Given the description of an element on the screen output the (x, y) to click on. 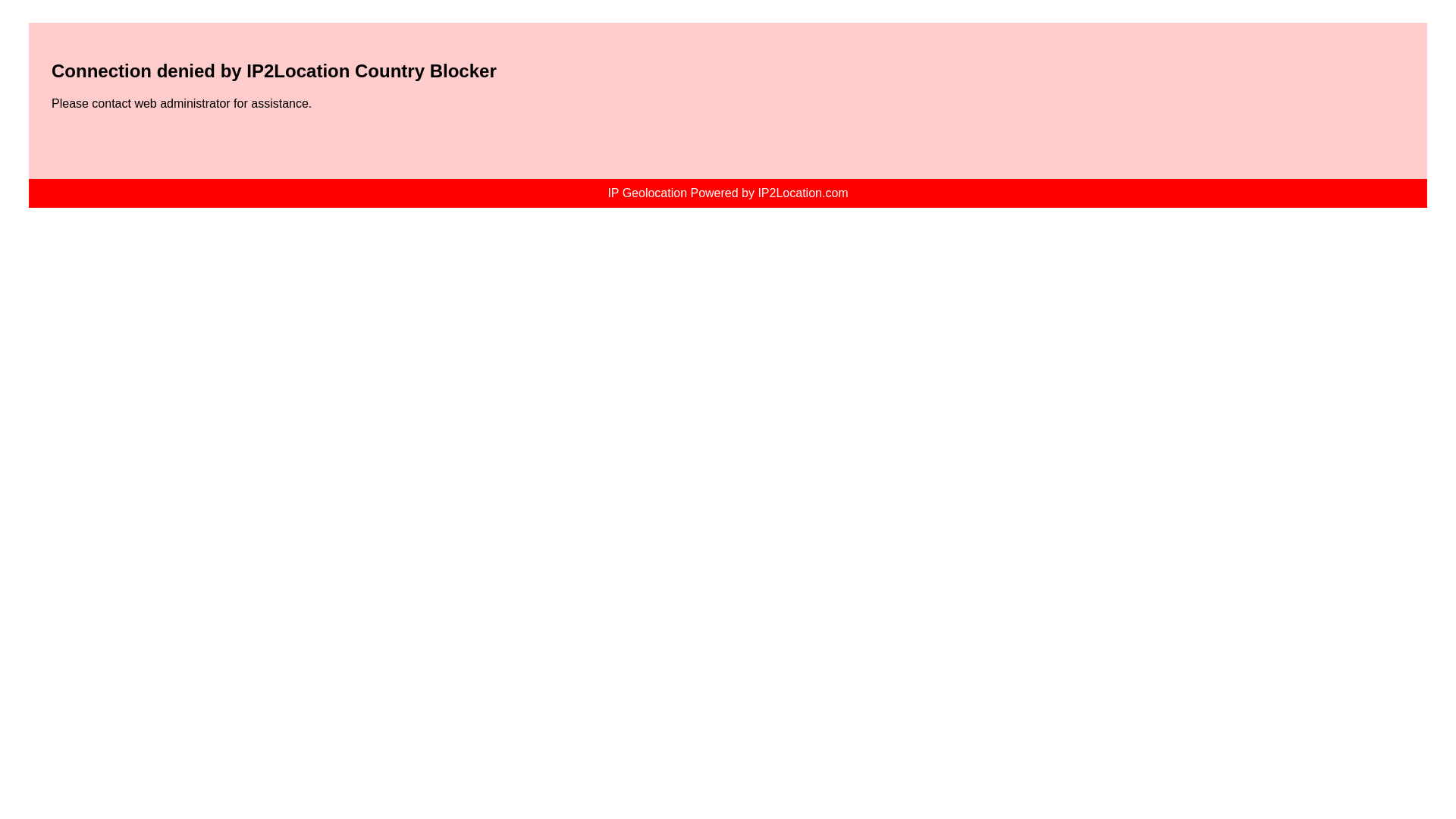
IP Geolocation Powered by IP2Location.com Element type: text (727, 192)
